Given the description of an element on the screen output the (x, y) to click on. 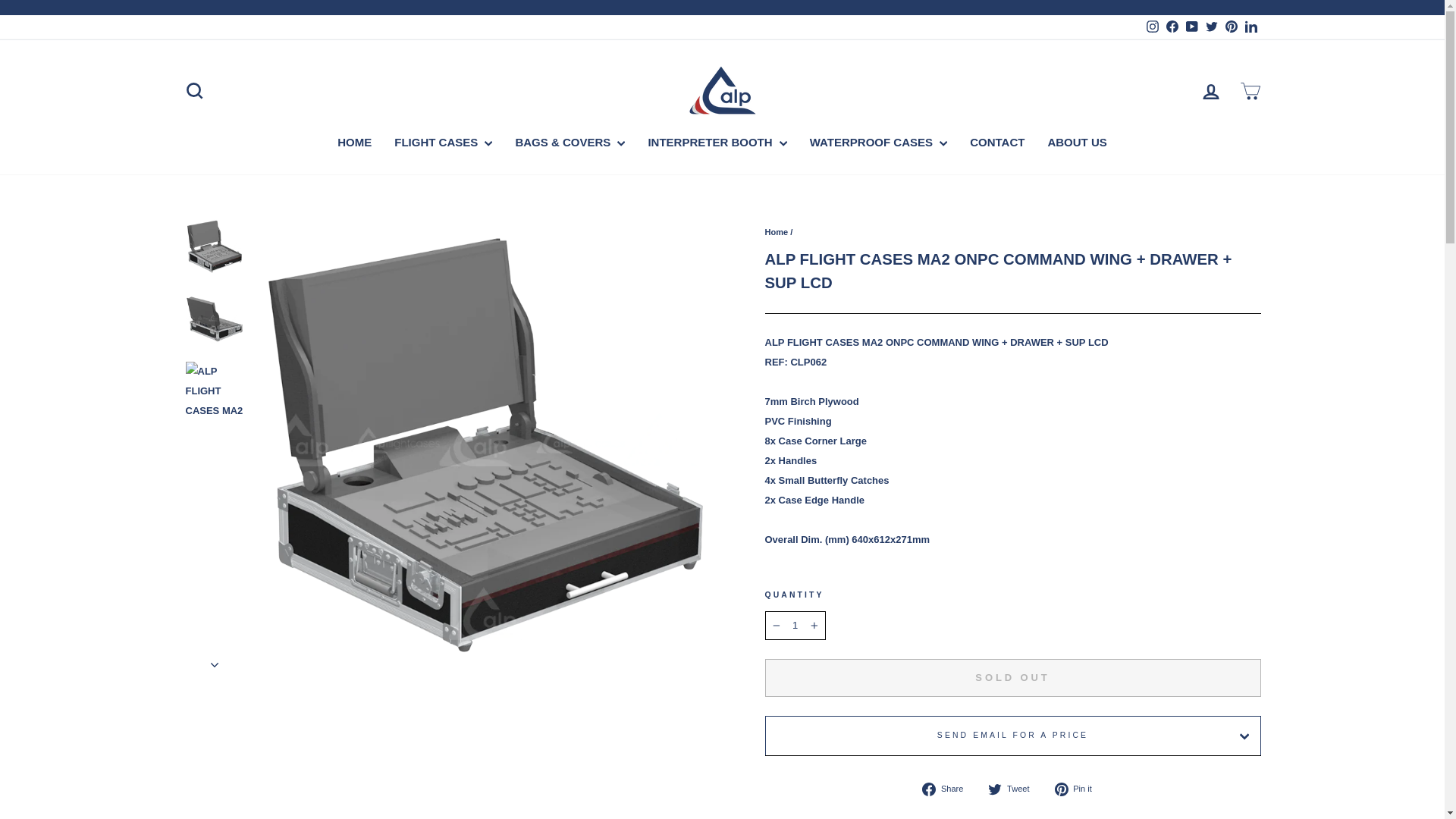
instagram (1152, 26)
ALP Flight Cases on Pinterest (1230, 27)
ALP Flight Cases on Twitter (1211, 27)
twitter (1211, 26)
1 (794, 624)
icon-search (194, 90)
ALP Flight Cases on LinkedIn (1250, 27)
icon-chevron (214, 664)
ALP Flight Cases on Facebook (1170, 27)
twitter (994, 789)
account (1210, 91)
Share on Facebook (947, 788)
ALP Flight Cases on YouTube (1190, 27)
ALP Flight Cases on Instagram (1151, 27)
Back to the frontpage (775, 231)
